Given the description of an element on the screen output the (x, y) to click on. 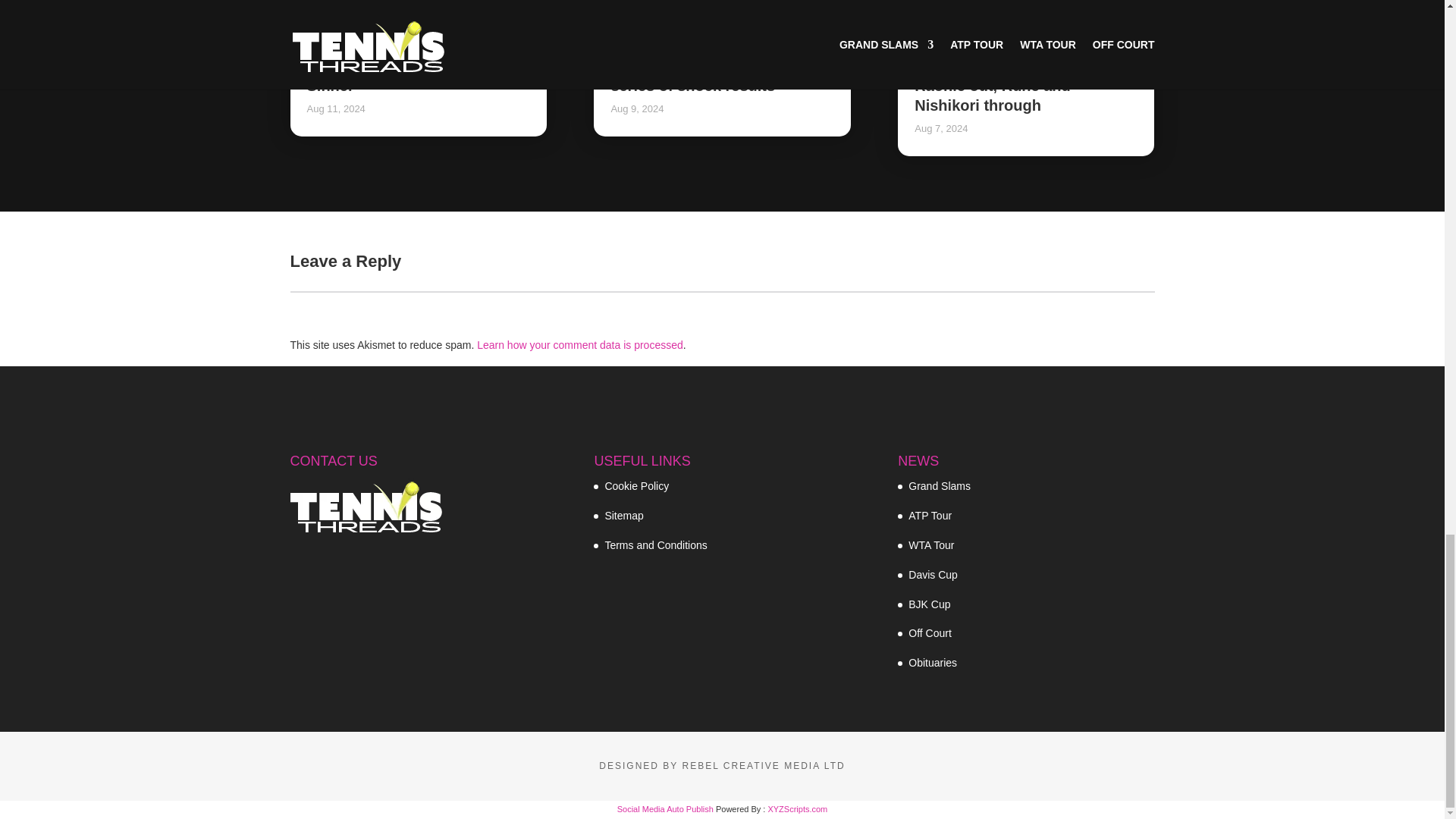
Social Media Auto Publish (665, 809)
Tennis Threads Magazine (365, 505)
